Given the description of an element on the screen output the (x, y) to click on. 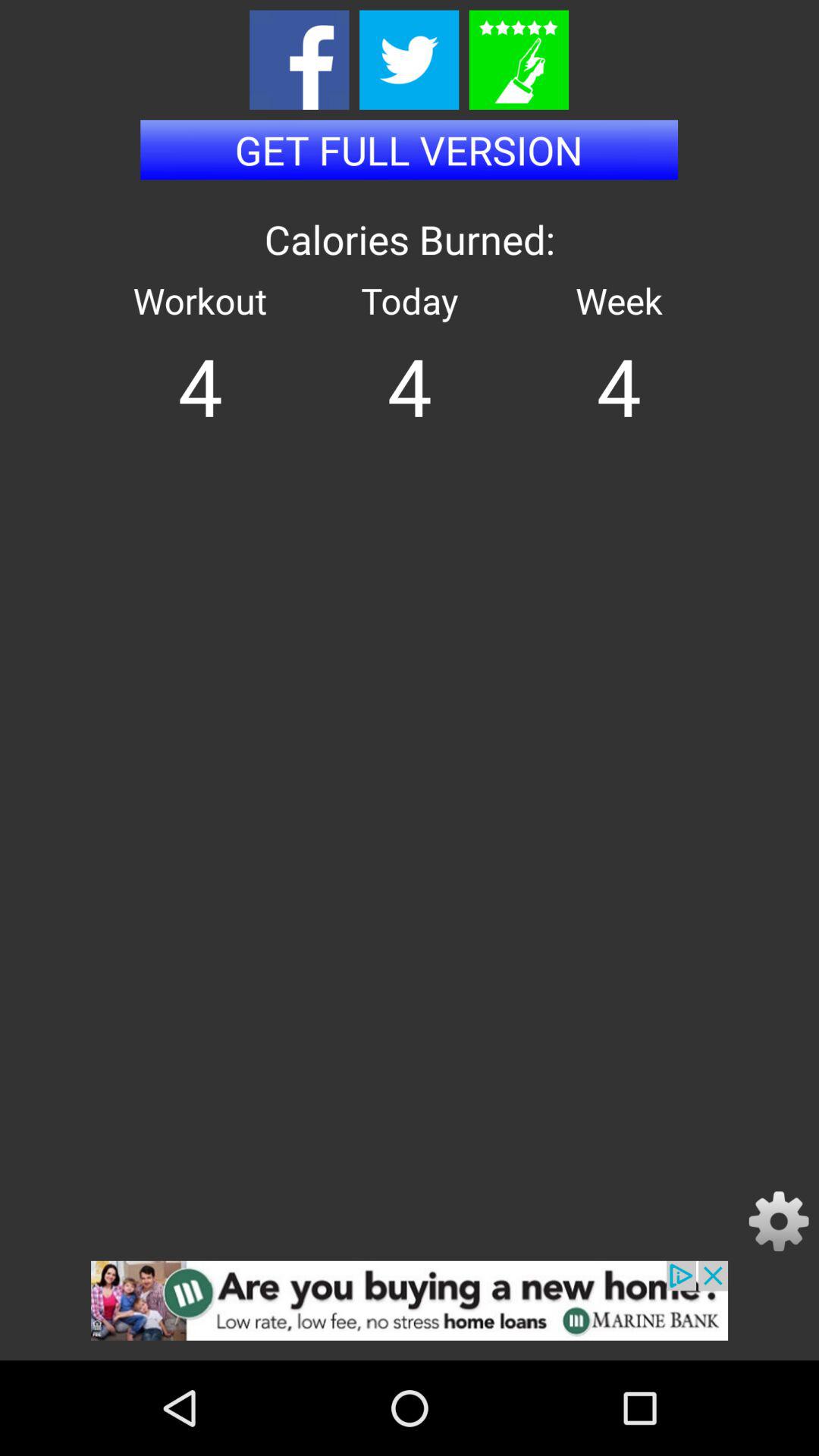
star rating (518, 59)
